Given the description of an element on the screen output the (x, y) to click on. 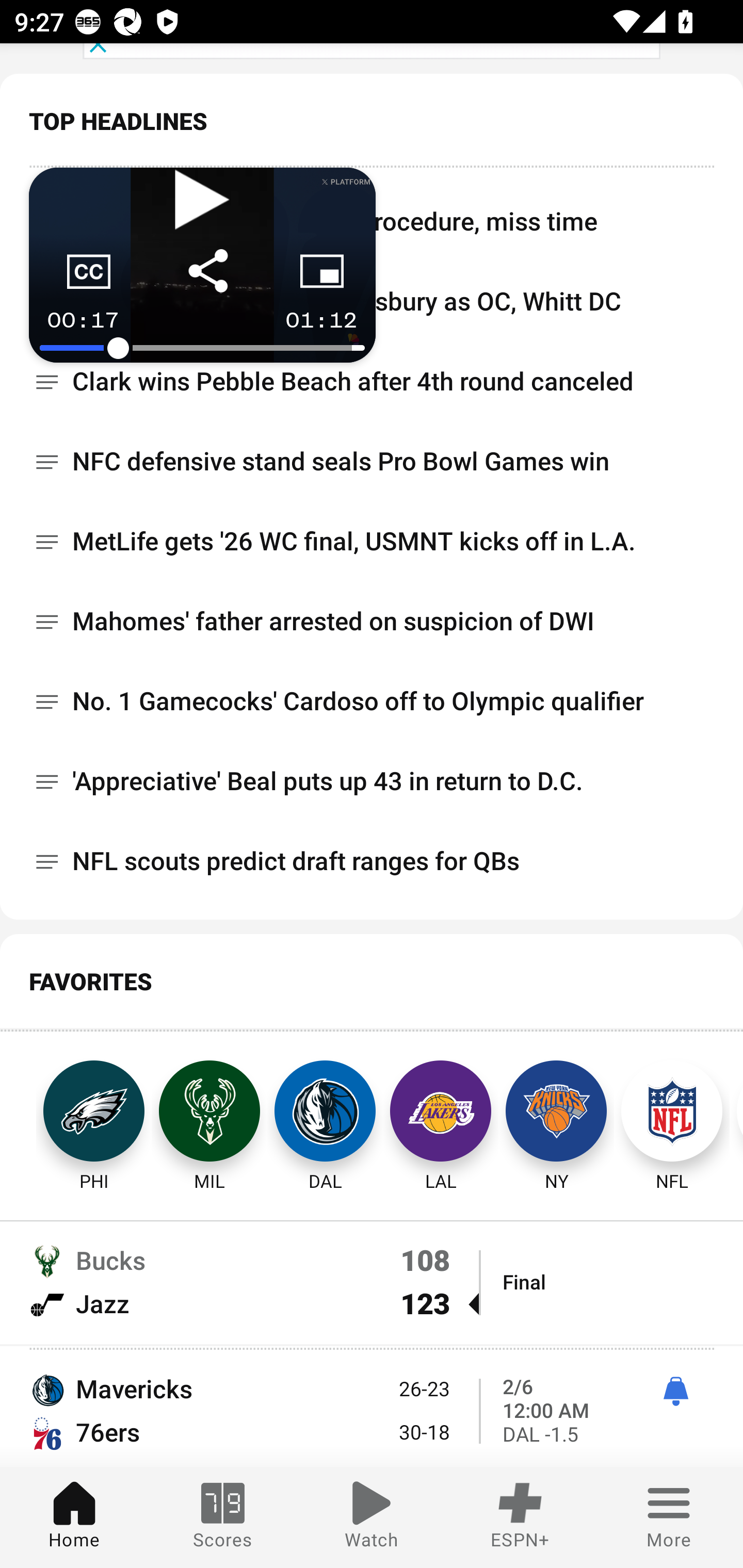
 Clark wins Pebble Beach after 4th round canceled (371, 381)
 NFC defensive stand seals Pro Bowl Games win (371, 461)
 Mahomes' father arrested on suspicion of DWI (371, 621)
 'Appreciative' Beal puts up 43 in return to D.C. (371, 781)
 NFL scouts predict draft ranges for QBs (371, 861)
PHI Philadelphia Eagles (75, 1112)
MIL Milwaukee Bucks (209, 1112)
DAL Dallas Mavericks (324, 1112)
LAL Los Angeles Lakers (440, 1112)
NY New York Knicks (555, 1112)
NFL (671, 1112)
Bucks 108 Jazz 123  Final (371, 1281)
ì (675, 1391)
Scores (222, 1517)
Watch (371, 1517)
ESPN+ (519, 1517)
More (668, 1517)
